Given the description of an element on the screen output the (x, y) to click on. 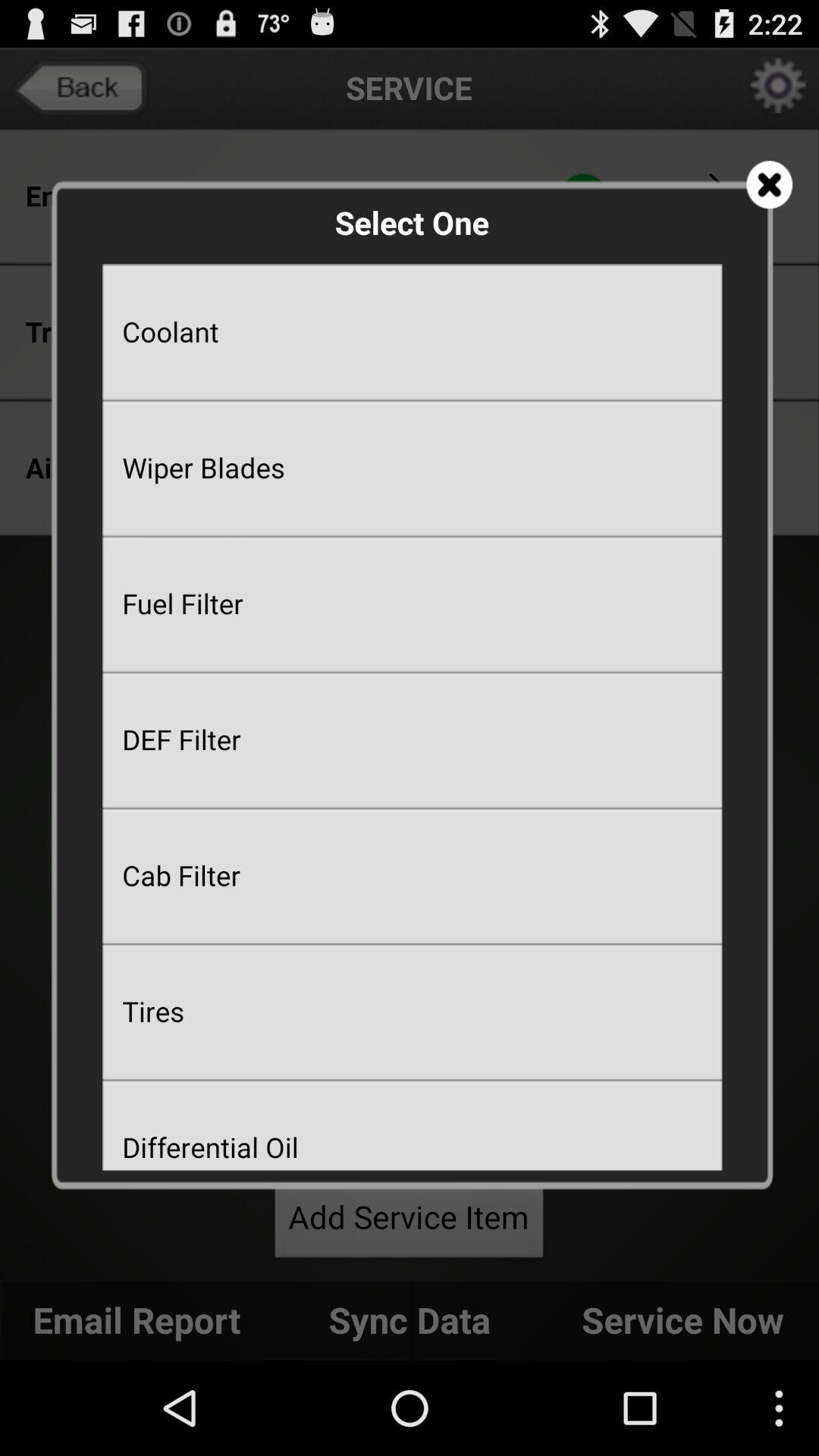
click app next to the select one app (769, 184)
